Given the description of an element on the screen output the (x, y) to click on. 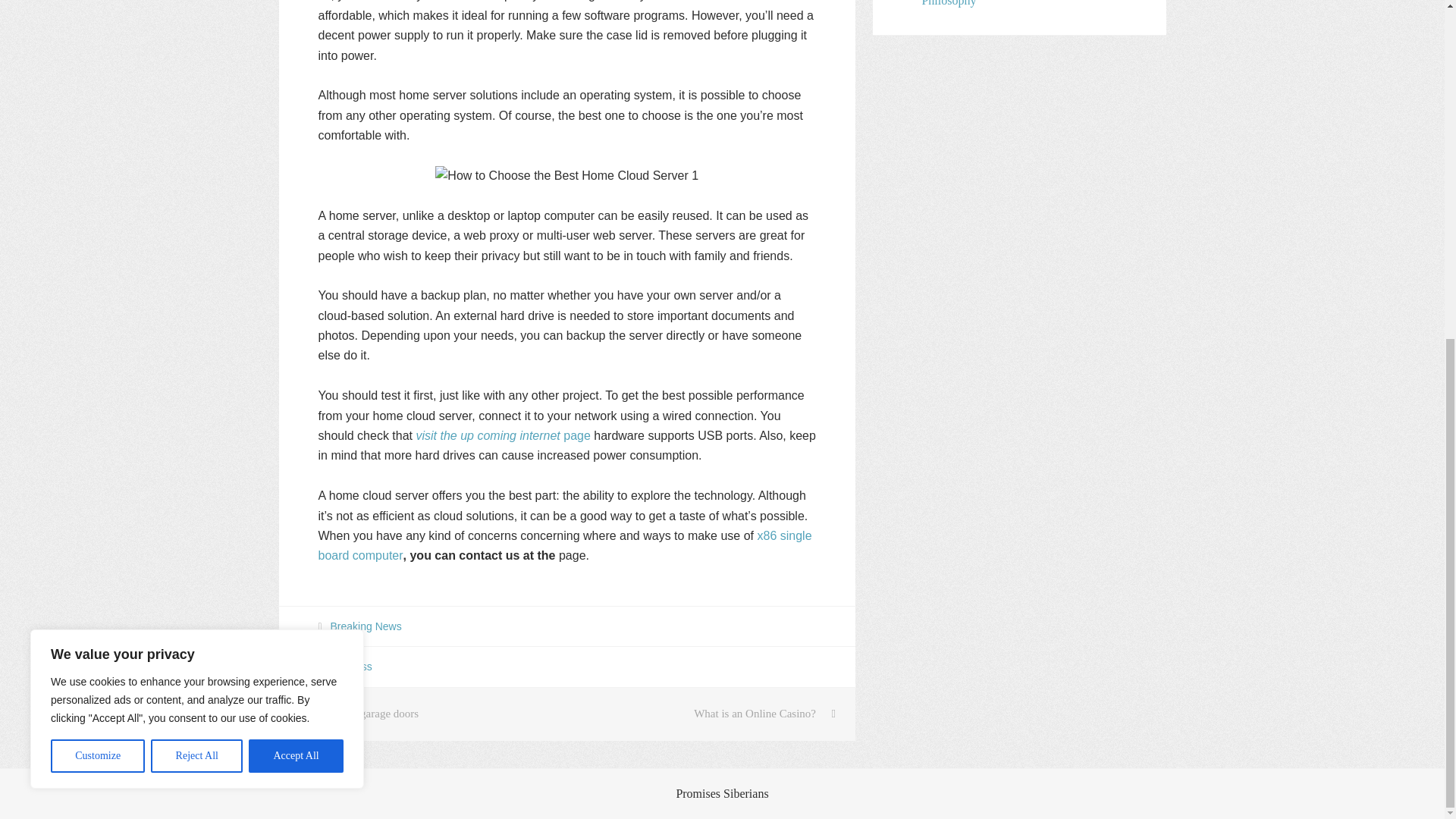
The Transformative Power of Martial Arts Philosophy (1021, 3)
Breaking News (365, 625)
Types of garage doors (423, 714)
visit the up coming internet page (501, 435)
x86 single board computer (565, 545)
What is an Online Casino? (711, 714)
Customize (97, 182)
Reject All (197, 182)
business (351, 666)
Accept All (295, 182)
